Given the description of an element on the screen output the (x, y) to click on. 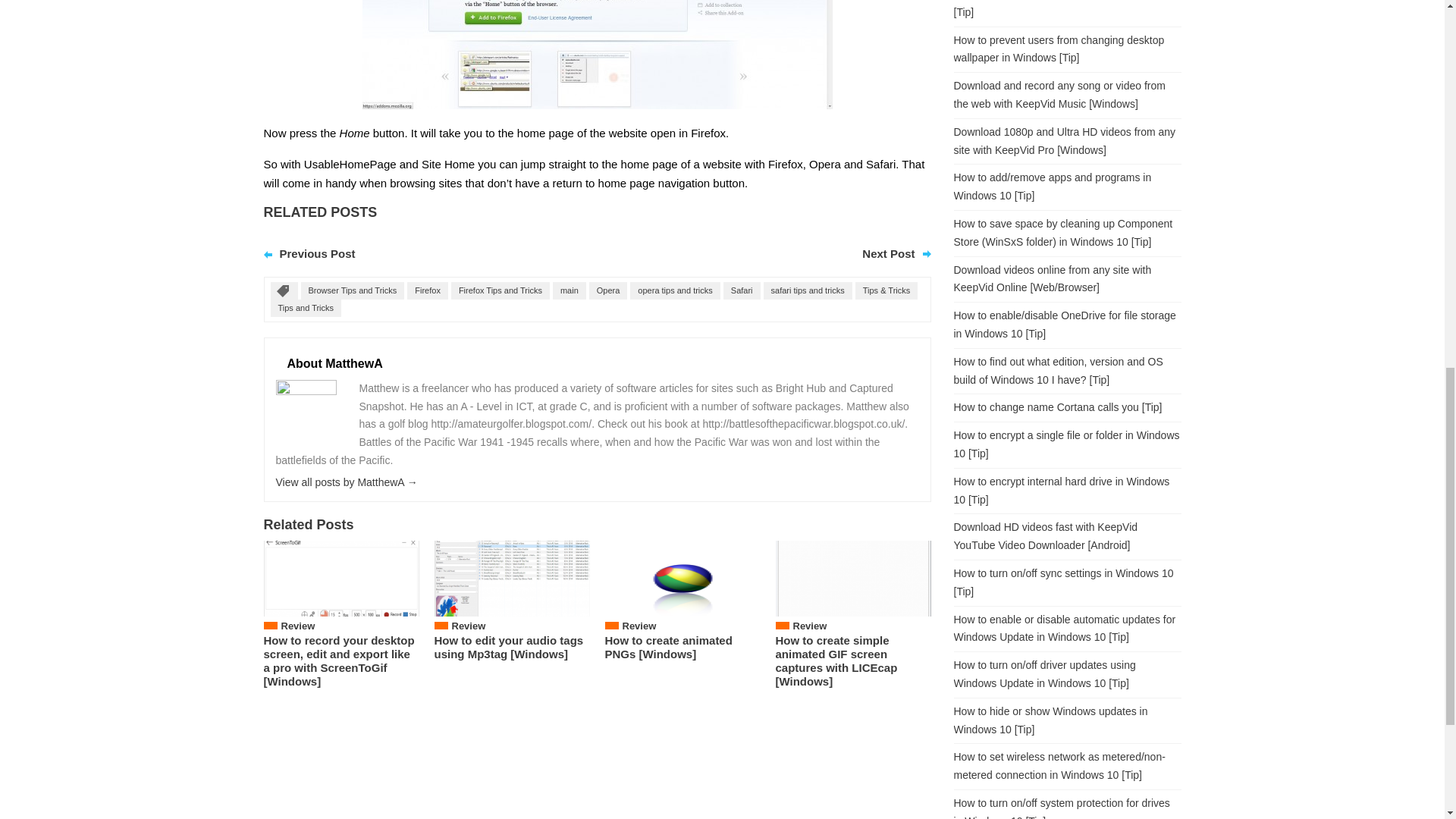
Browser Tips and Tricks (351, 290)
safari tips and tricks (806, 290)
Tips and Tricks (304, 307)
Previous Post (317, 253)
main (569, 290)
Review (297, 625)
Firefox (427, 290)
Opera (608, 290)
Next Post (887, 253)
Safari (741, 290)
Review (468, 625)
Firefox Tips and Tricks (500, 290)
opera tips and tricks (674, 290)
